Given the description of an element on the screen output the (x, y) to click on. 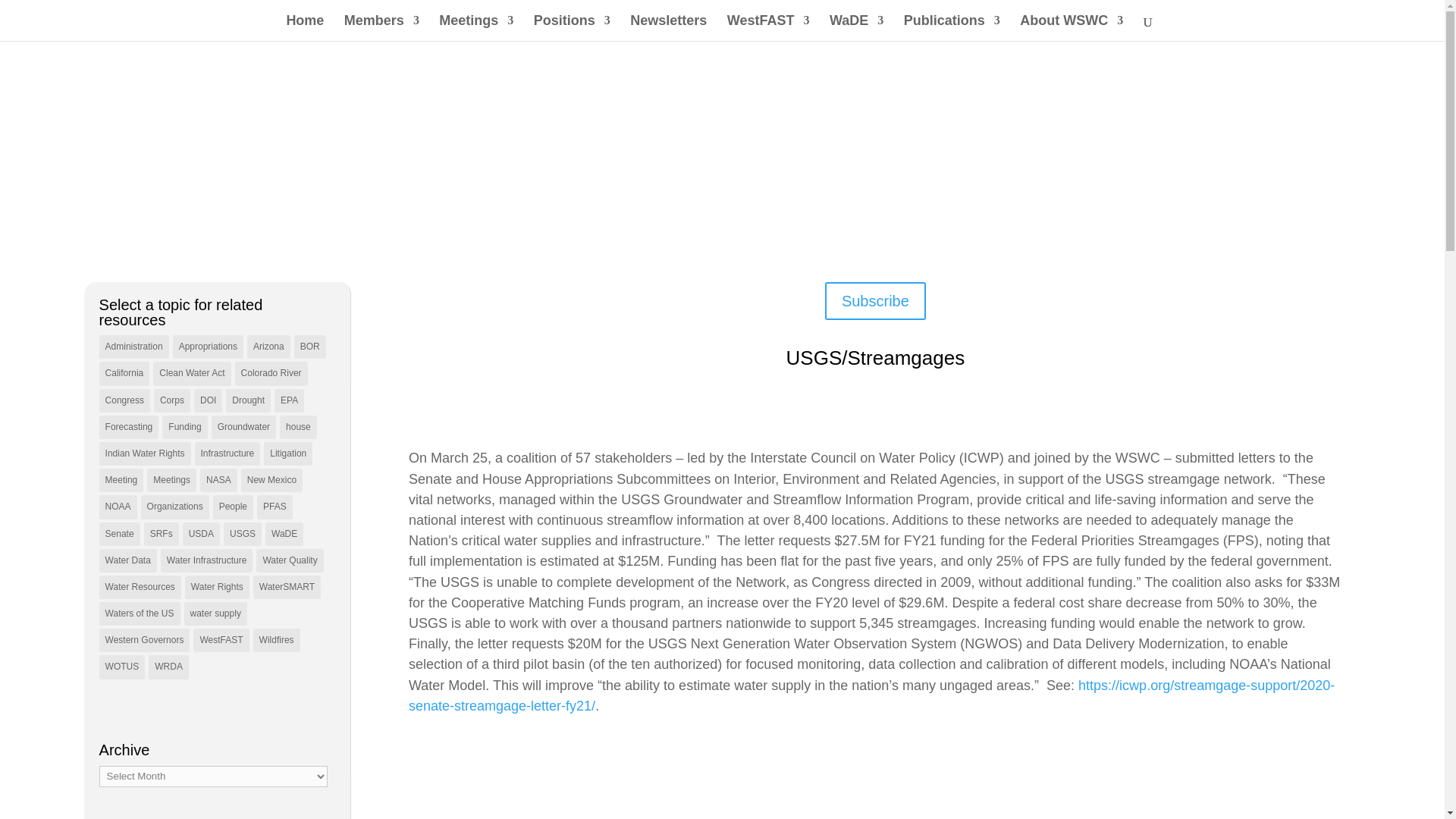
WaDE (856, 27)
Members (381, 27)
Appropriations (208, 346)
About WSWC (1071, 27)
Administration (133, 346)
WestFAST (767, 27)
Newsletters (668, 27)
Publications (952, 27)
Arizona (268, 346)
Meetings (476, 27)
